Given the description of an element on the screen output the (x, y) to click on. 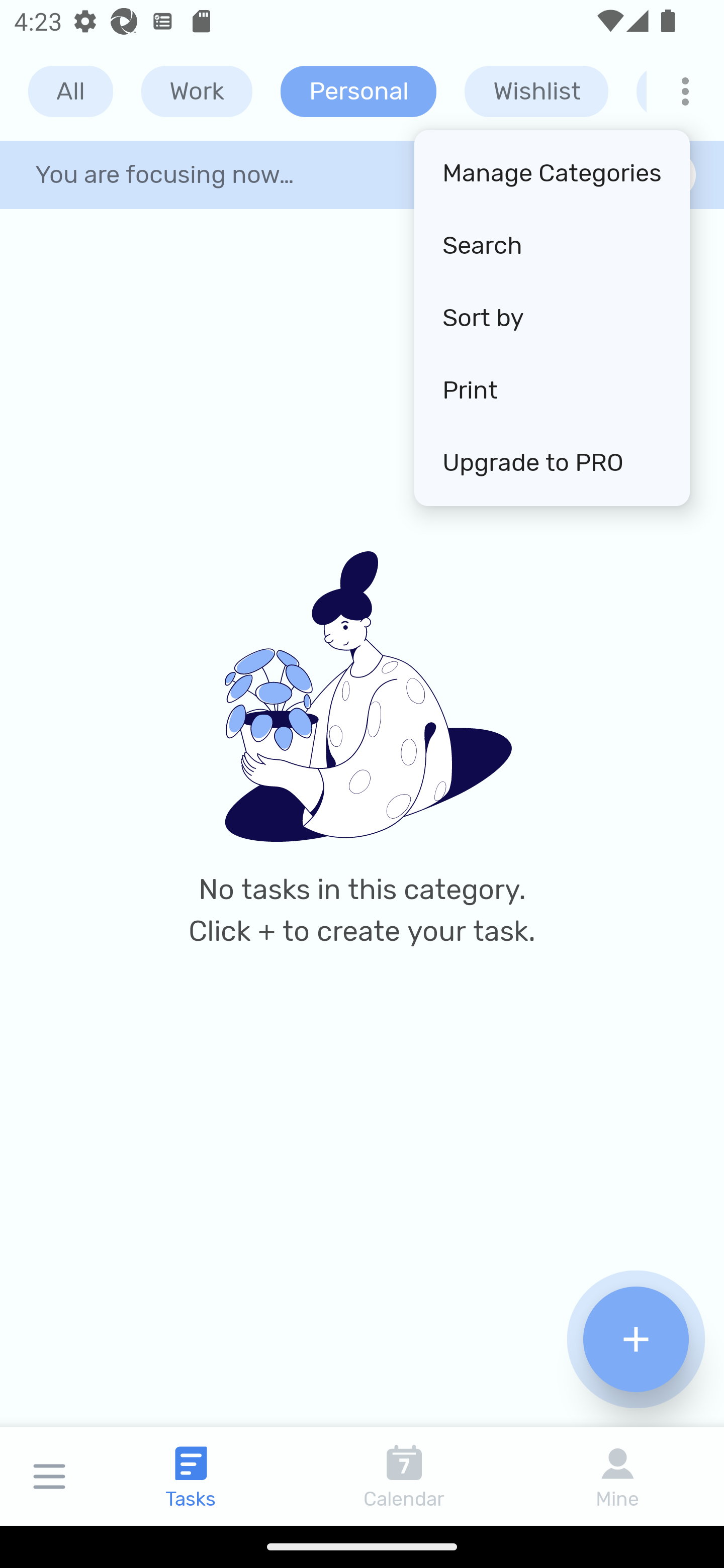
Manage Categories (551, 173)
Search (551, 246)
Sort by (551, 318)
Print (551, 390)
Upgrade to PRO (551, 462)
